Given the description of an element on the screen output the (x, y) to click on. 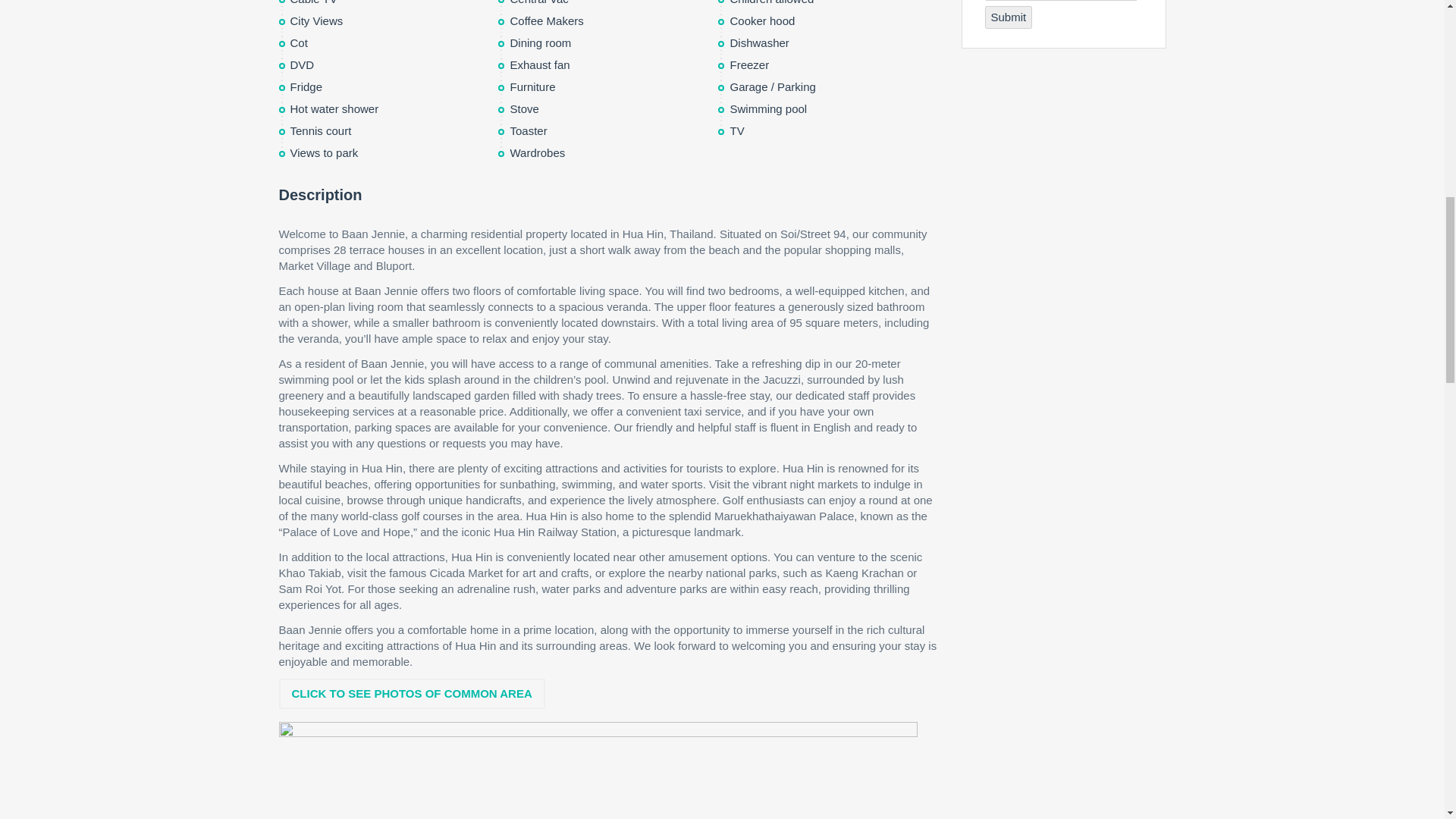
BJ20masterplan Rent House Hua Hin (598, 770)
